Given the description of an element on the screen output the (x, y) to click on. 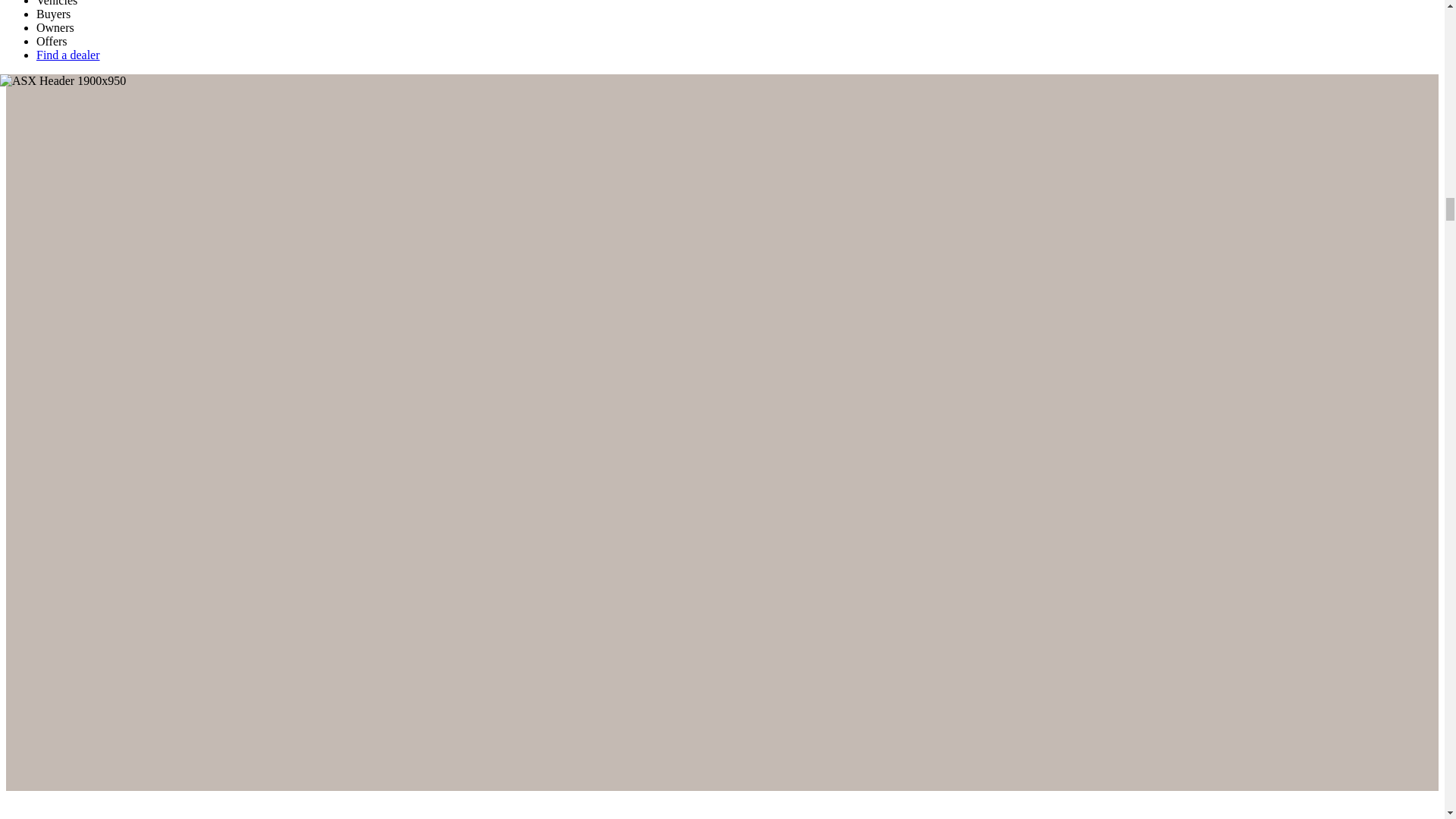
Buyers (52, 13)
Offers (51, 41)
logo-asx (75, 802)
Vehicles (56, 3)
Owners (55, 27)
